Given the description of an element on the screen output the (x, y) to click on. 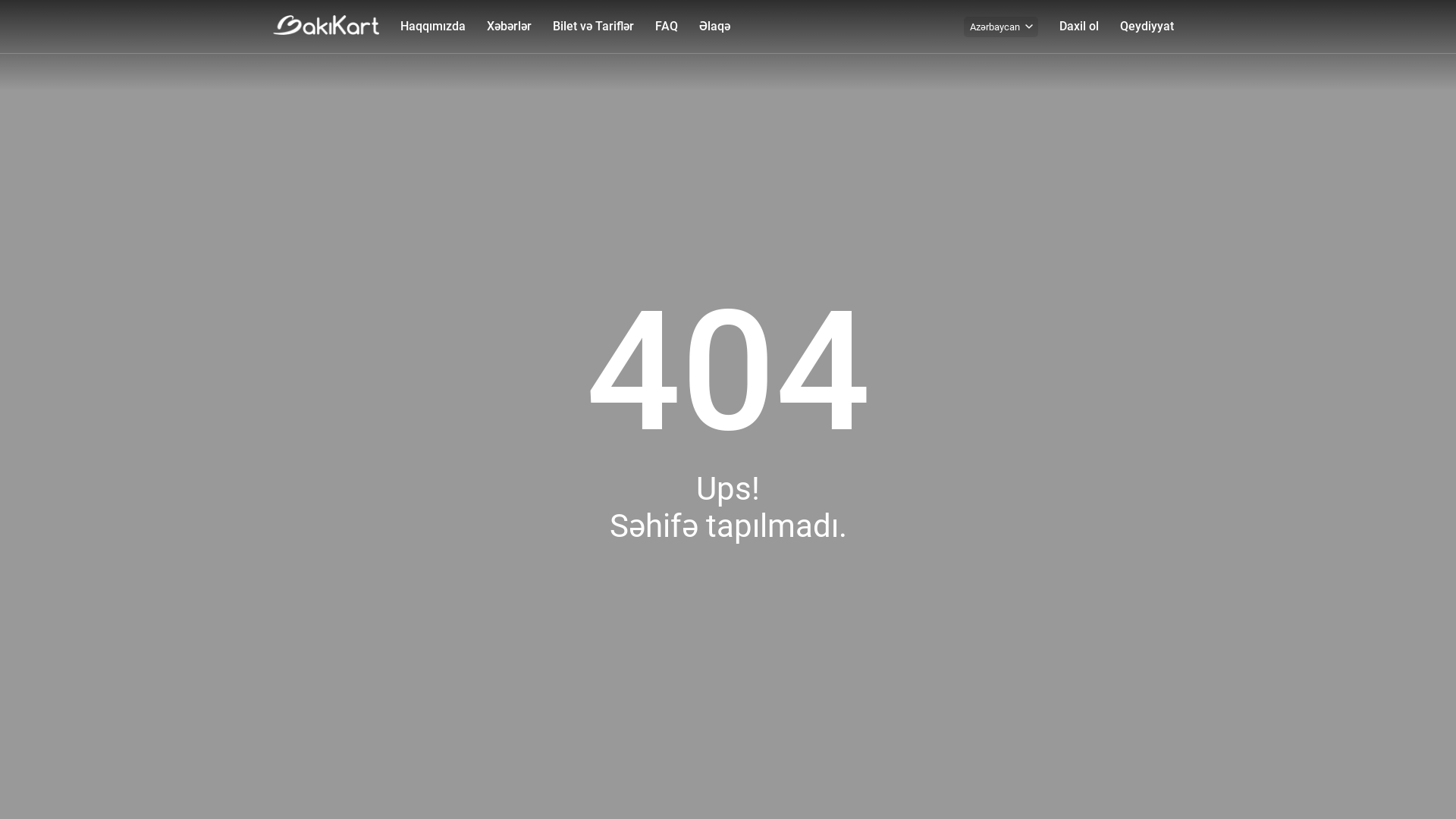
Daxil ol Element type: text (1078, 26)
FAQ Element type: text (666, 26)
Qeydiyyat Element type: text (1146, 26)
